Given the description of an element on the screen output the (x, y) to click on. 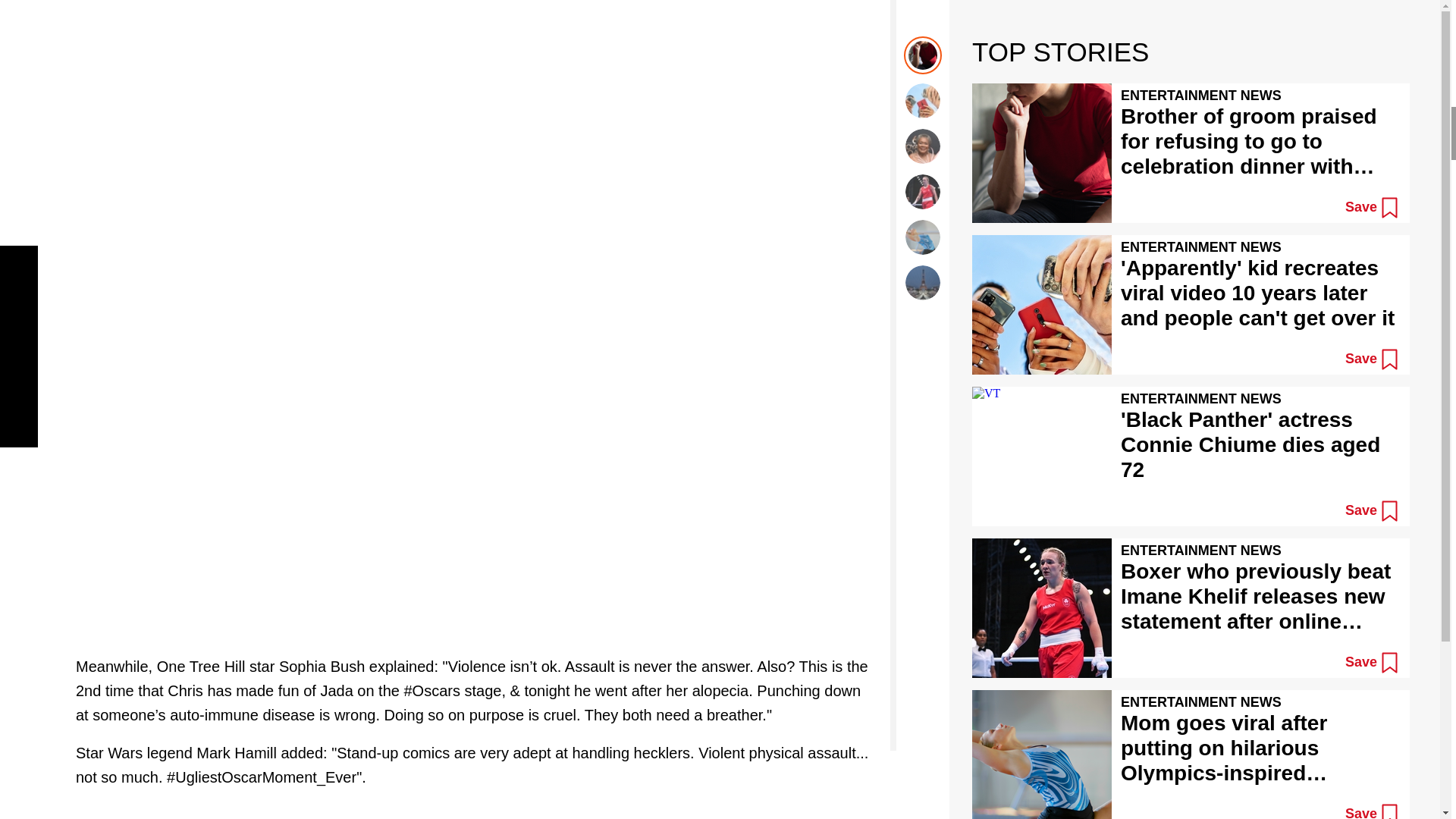
Twitter Tweet (474, 814)
Twitter Tweet (474, 80)
